Given the description of an element on the screen output the (x, y) to click on. 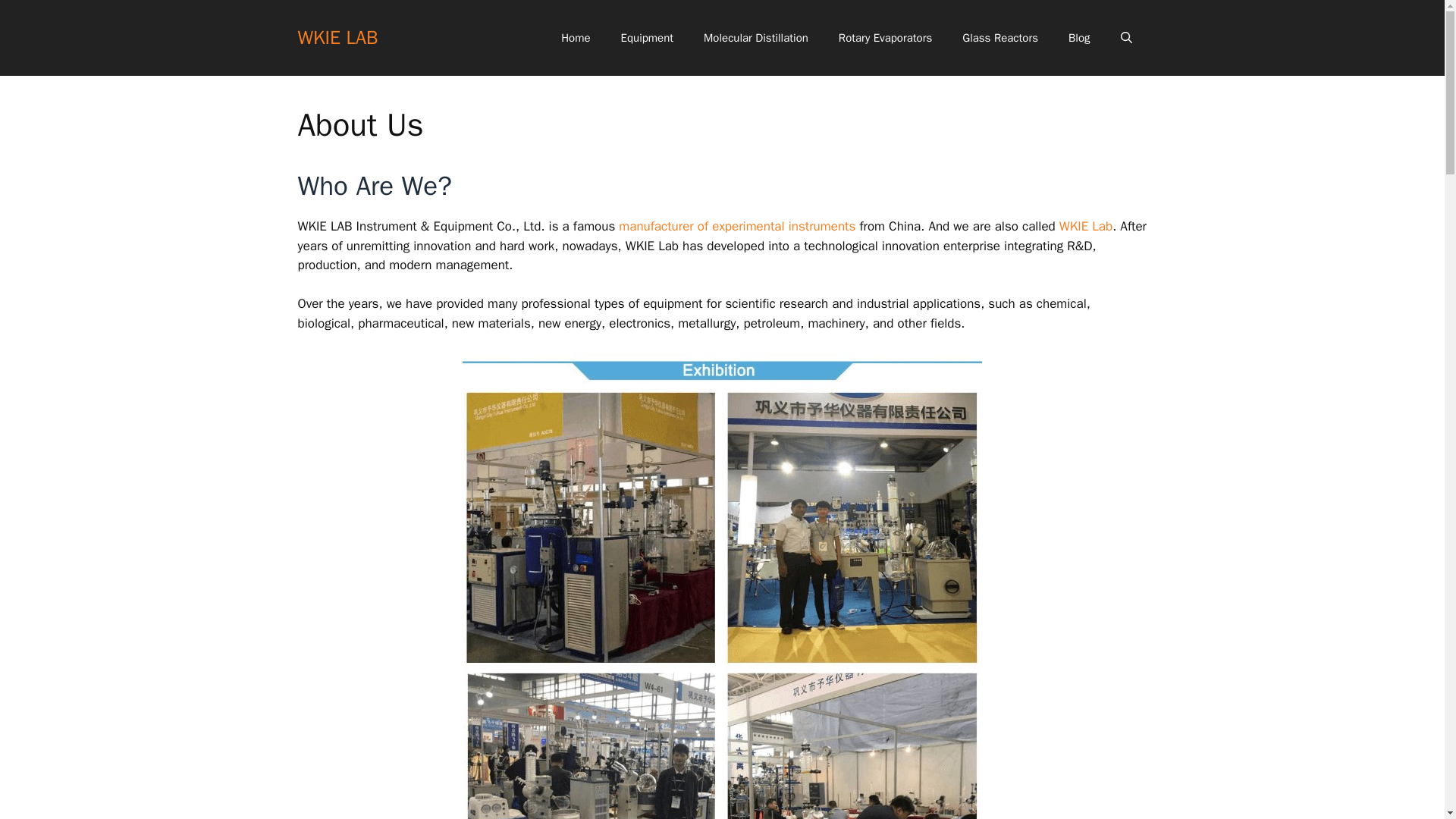
Molecular Distillation (756, 37)
Home (575, 37)
WKIE LAB (337, 37)
Blog (1078, 37)
WKIE Lab (1085, 226)
manufacturer of experimental instruments (737, 226)
Glass Reactors (999, 37)
Rotary Evaporators (885, 37)
Equipment (646, 37)
